Given the description of an element on the screen output the (x, y) to click on. 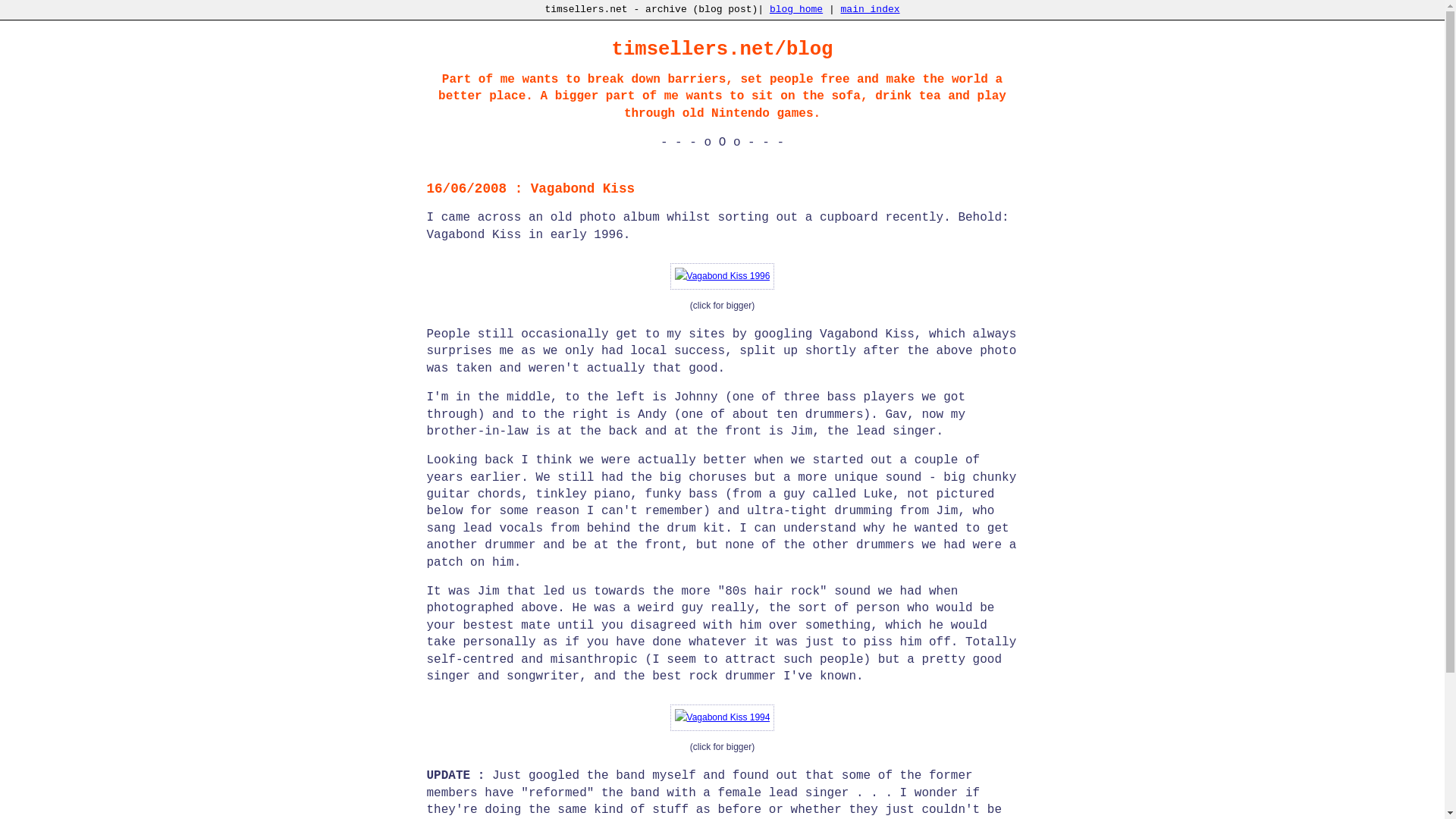
blog home (796, 9)
main index (870, 9)
